Given the description of an element on the screen output the (x, y) to click on. 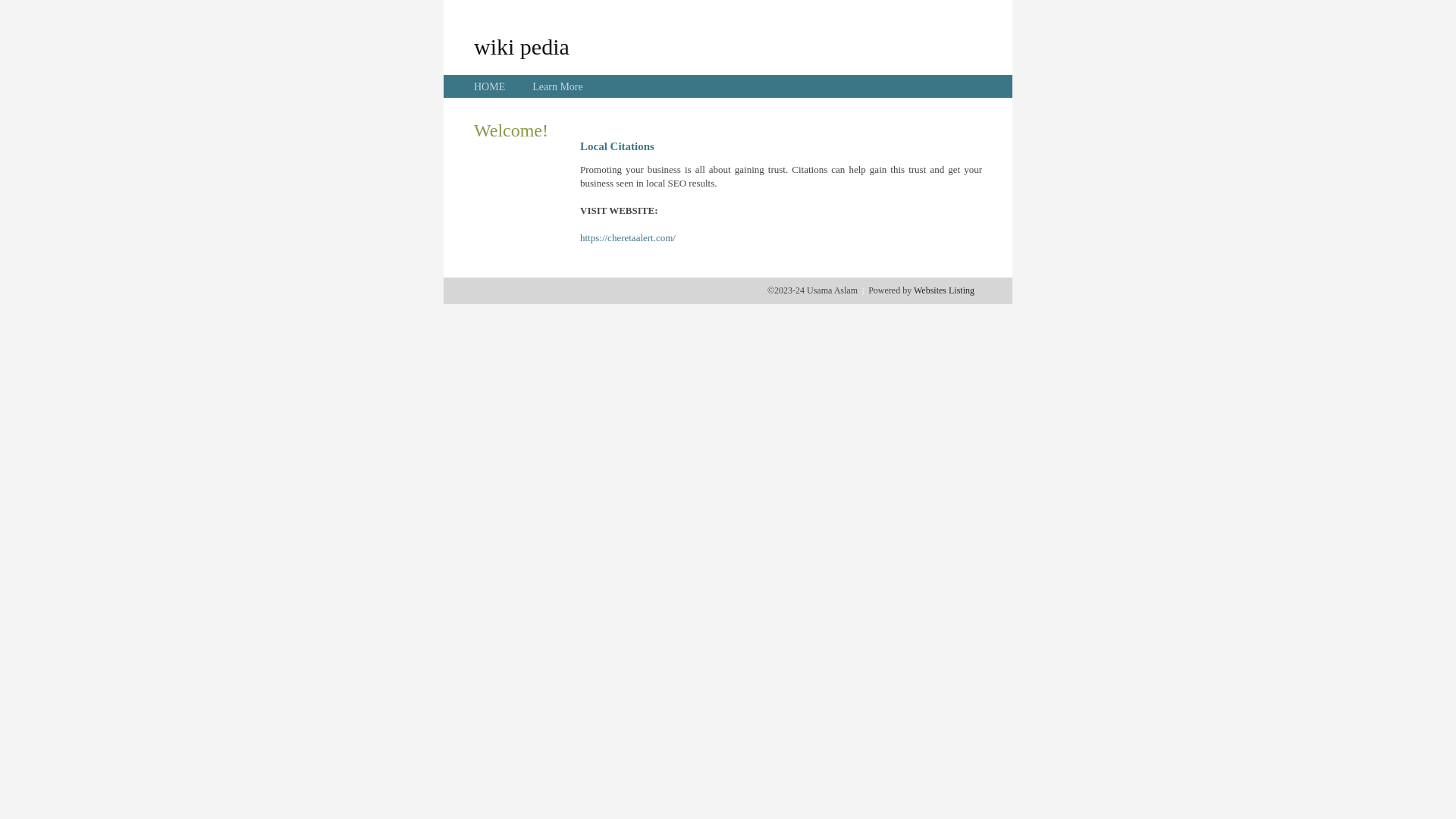
wiki pedia Element type: text (521, 46)
Learn More Element type: text (557, 86)
HOME Element type: text (489, 86)
https://cheretaalert.com/ Element type: text (627, 237)
Websites Listing Element type: text (943, 290)
